Given the description of an element on the screen output the (x, y) to click on. 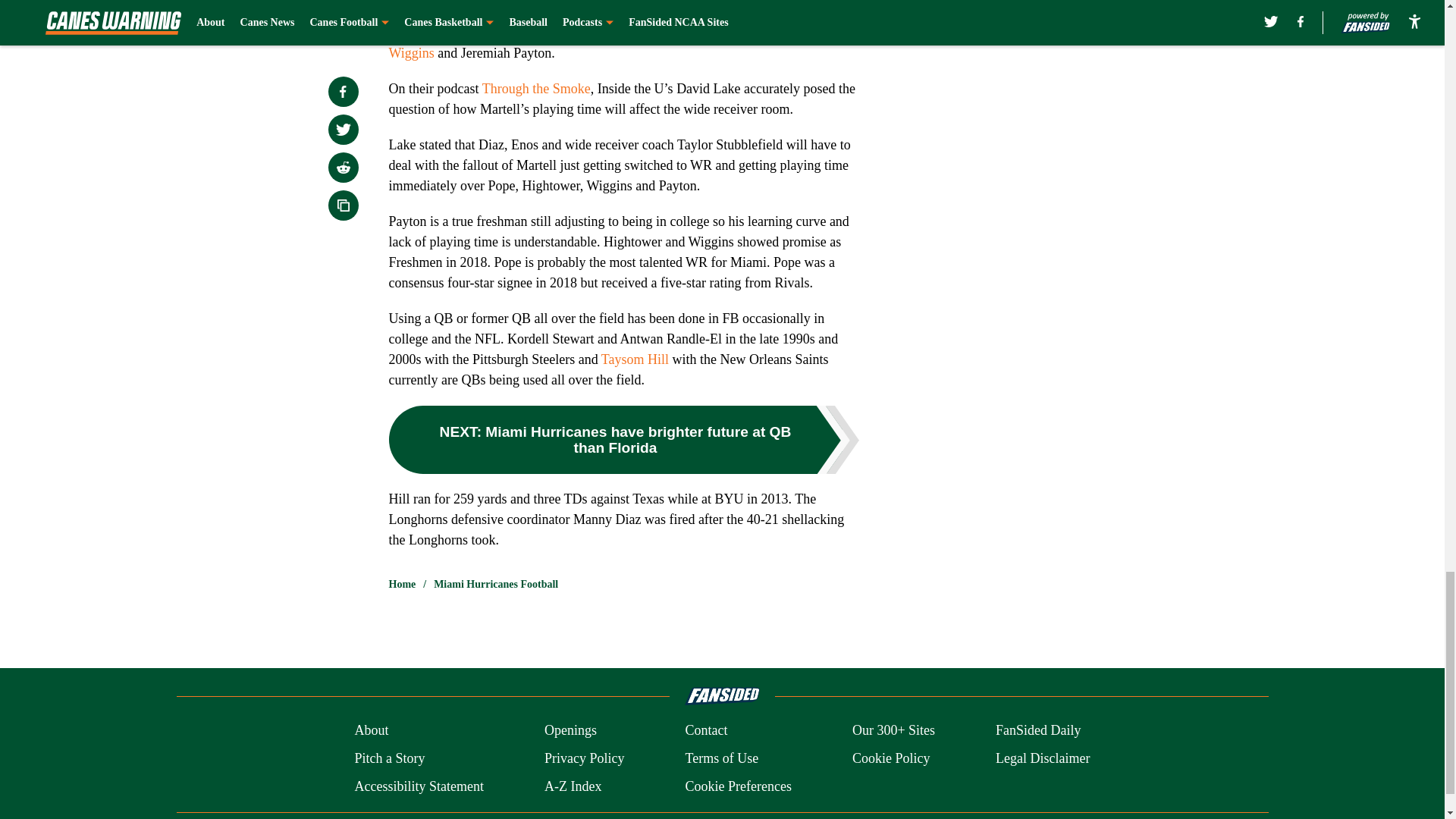
About (370, 730)
Miami Hurricanes Football (495, 584)
Mark Pope (676, 32)
Through the Smoke (536, 88)
Brian Hightower (760, 32)
Taysom Hill (634, 359)
Home (401, 584)
Dee Wiggins (611, 42)
